Given the description of an element on the screen output the (x, y) to click on. 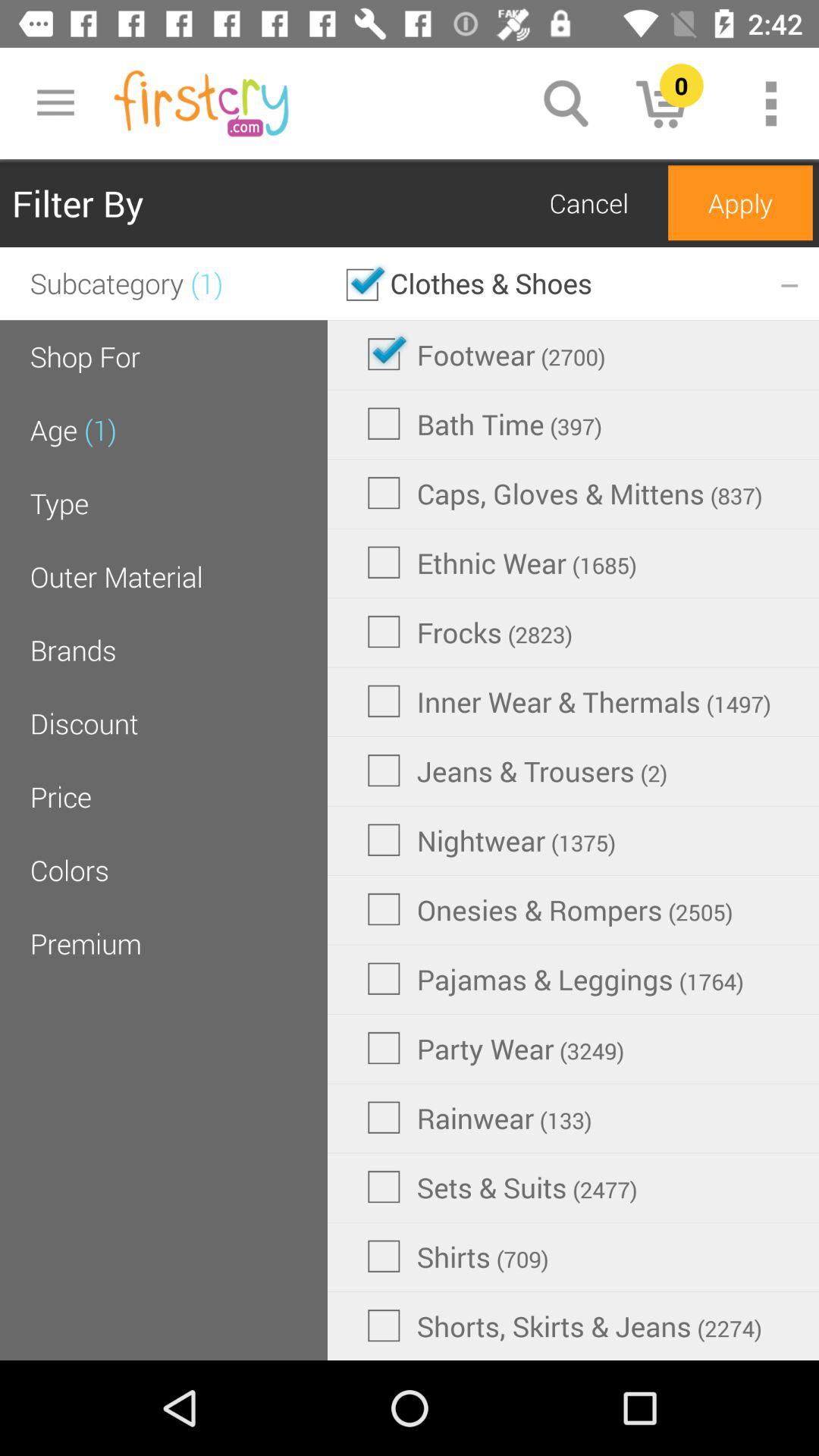
open item next to discount icon (517, 770)
